Given the description of an element on the screen output the (x, y) to click on. 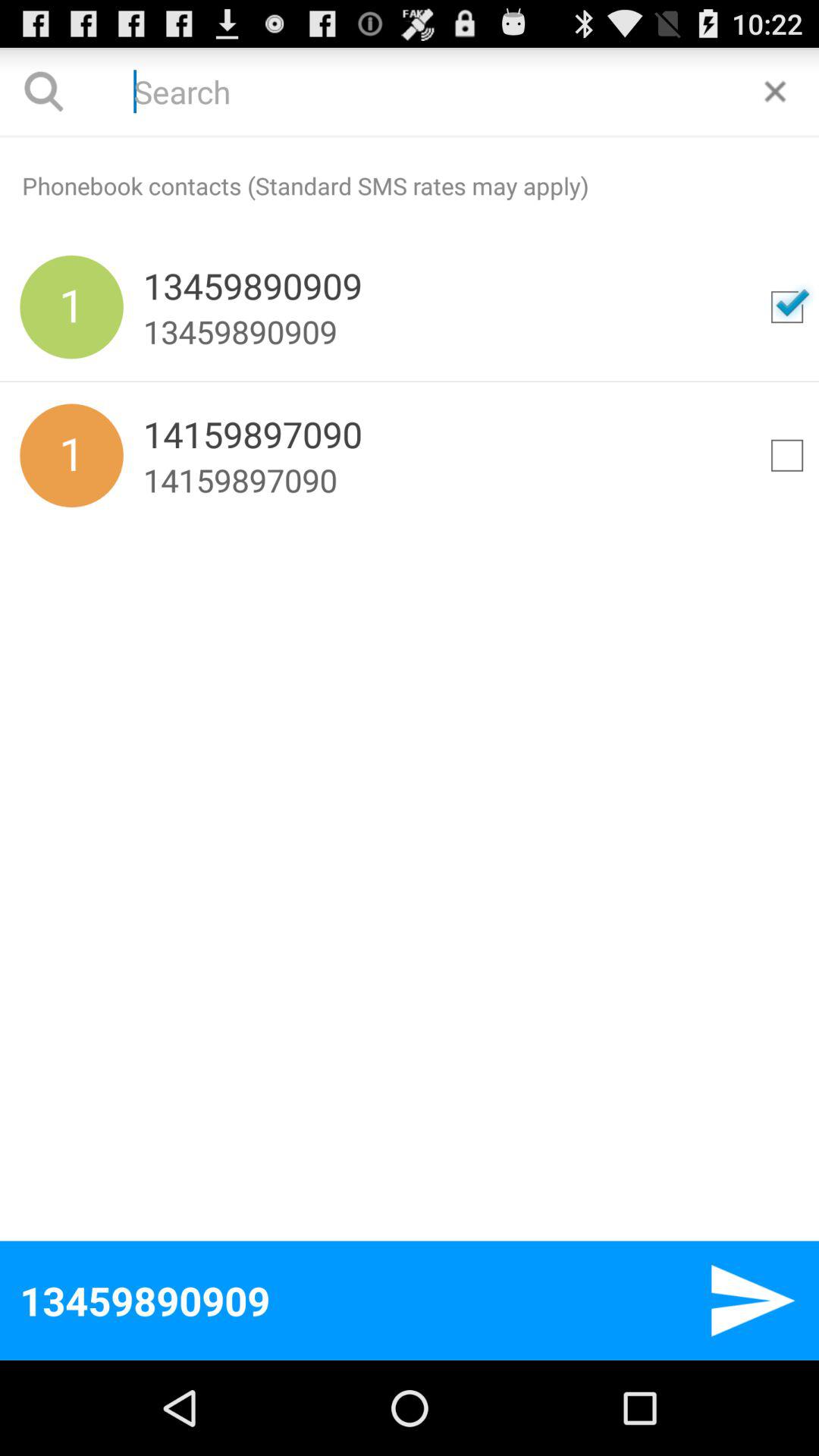
search field (409, 91)
